Given the description of an element on the screen output the (x, y) to click on. 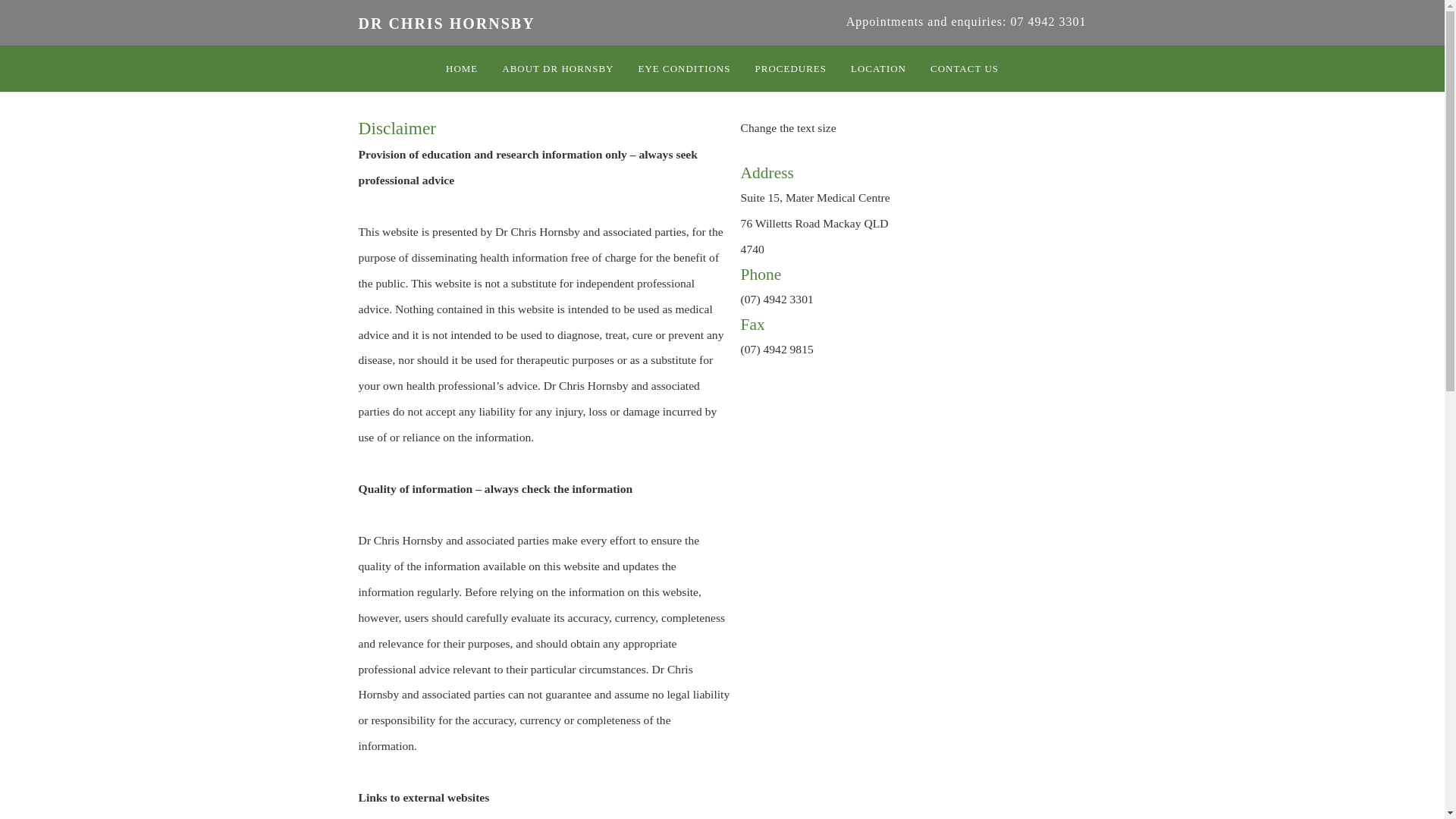
EYE CONDITIONS Element type: text (684, 68)
CONTACT US Element type: text (964, 68)
LOCATION Element type: text (878, 68)
HOME Element type: text (461, 68)
ABOUT DR HORNSBY Element type: text (557, 68)
PROCEDURES Element type: text (790, 68)
